Given the description of an element on the screen output the (x, y) to click on. 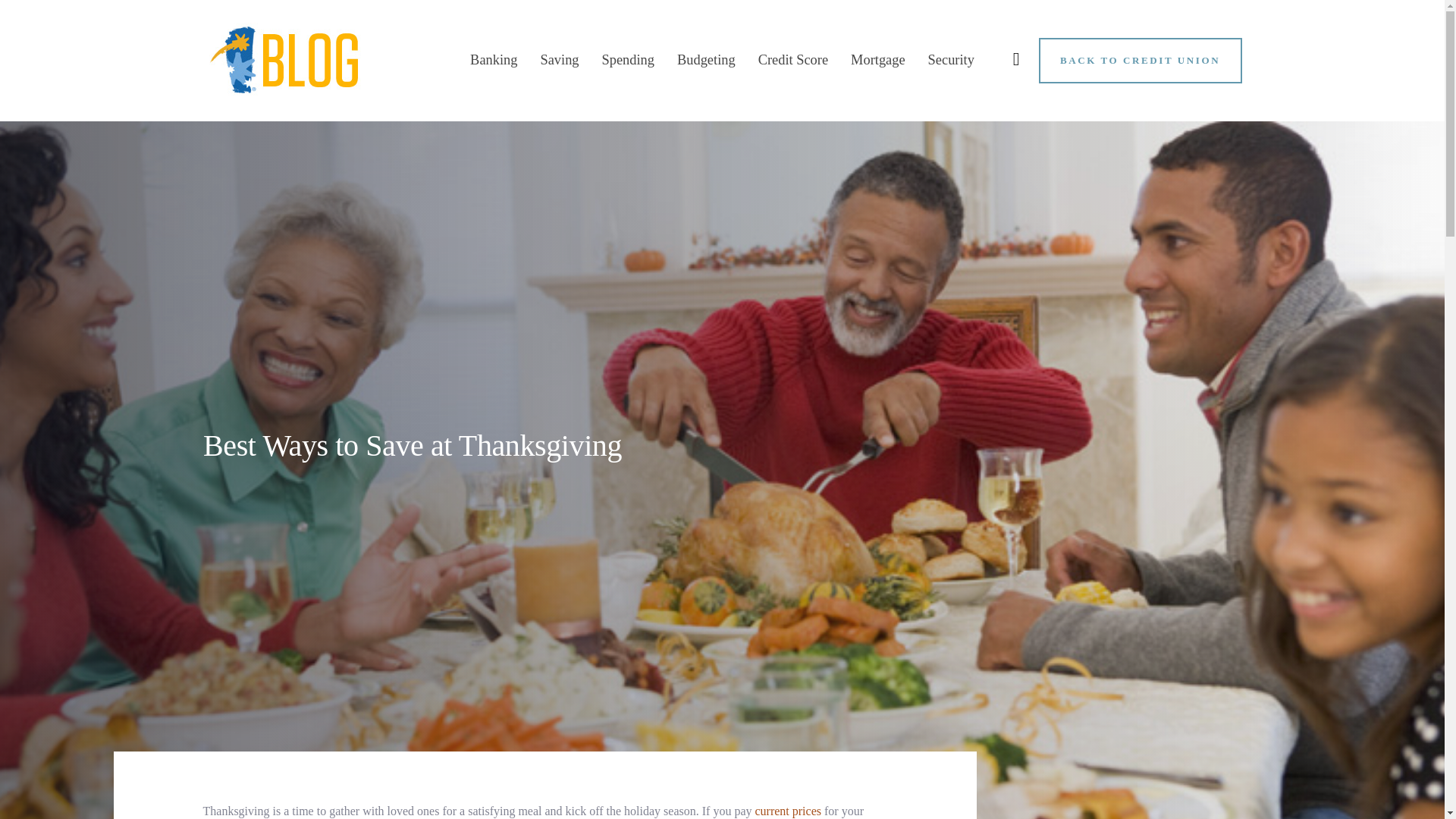
Back to Credit Union (1140, 59)
current prices (787, 810)
BACK TO CREDIT UNION (1140, 59)
